Given the description of an element on the screen output the (x, y) to click on. 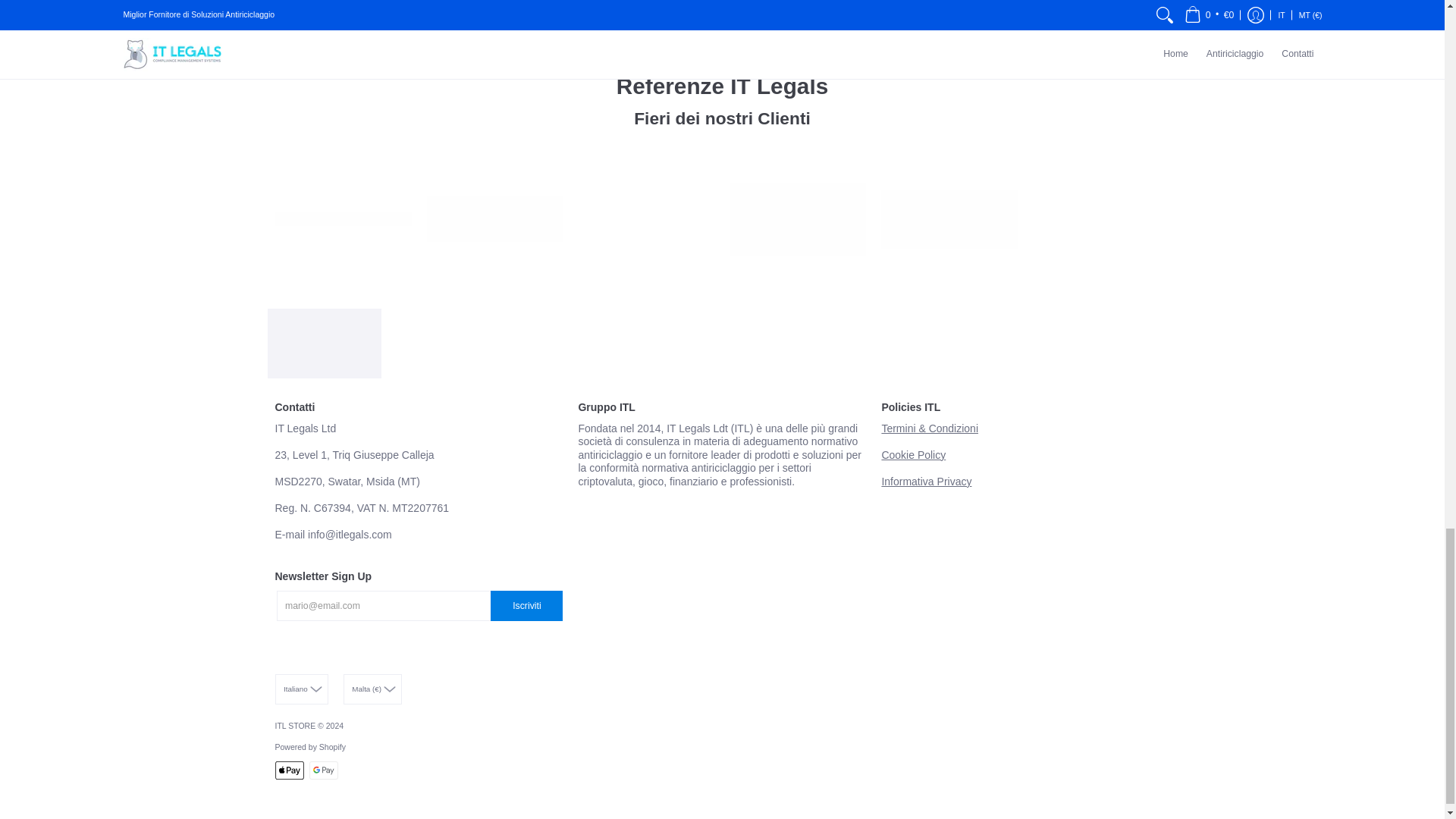
Google Pay (322, 770)
Apple Pay (288, 770)
